Given the description of an element on the screen output the (x, y) to click on. 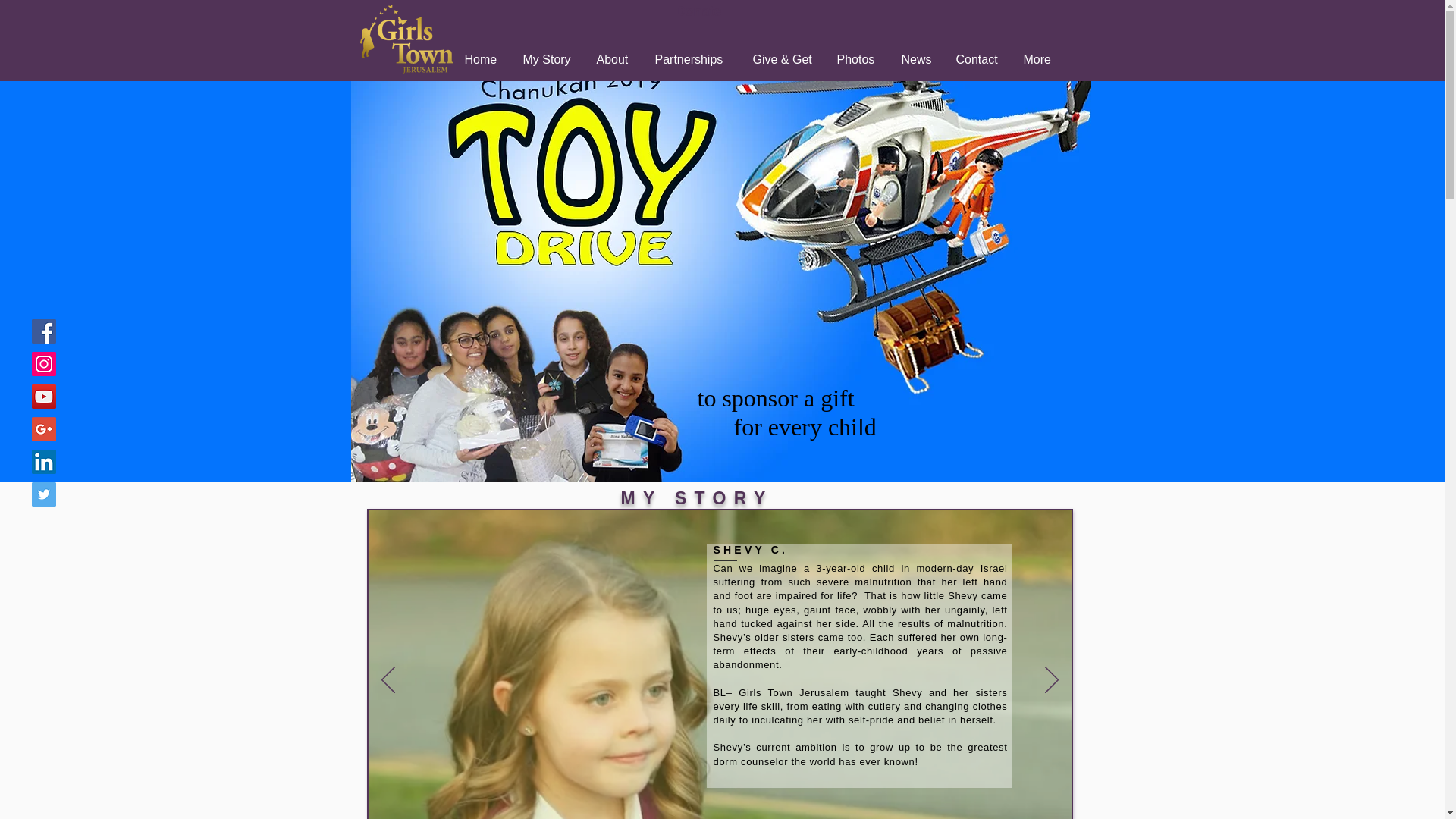
My Story (548, 59)
Contact (977, 59)
News (916, 59)
About (614, 59)
Donate (697, 11)
Photos (857, 59)
Home (482, 59)
